Given the description of an element on the screen output the (x, y) to click on. 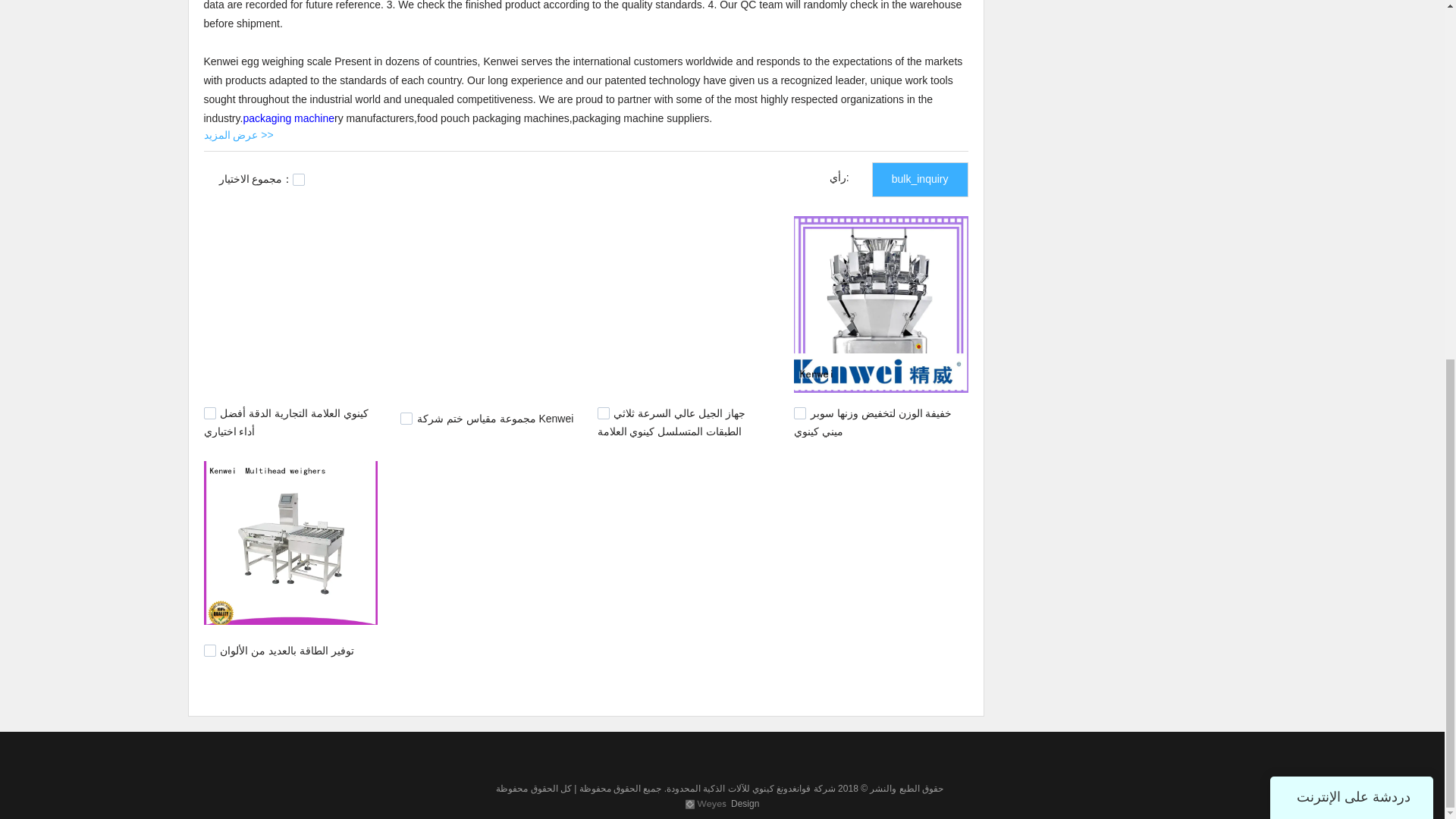
1658 (406, 418)
on (298, 179)
1602 (209, 650)
1733 (209, 413)
1624 (799, 413)
1649 (603, 413)
